Given the description of an element on the screen output the (x, y) to click on. 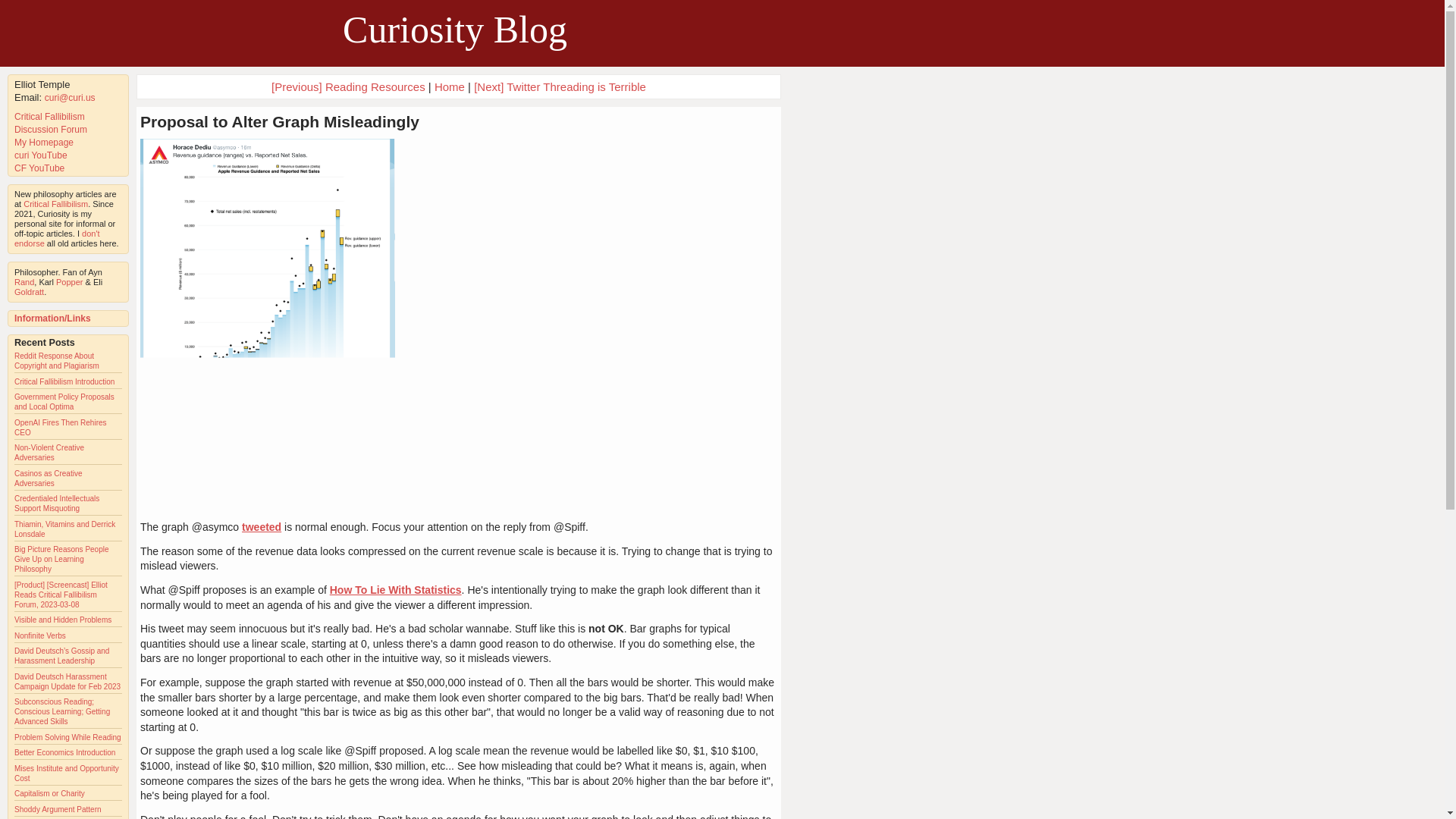
Reddit Response About Copyright and Plagiarism (56, 361)
Thiamin, Vitamins and Derrick Lonsdale (64, 529)
Government Policy Proposals and Local Optima (64, 402)
Non-Violent Creative Adversaries (49, 452)
CF YouTube (39, 167)
OpenAI Fires Then Rehires CEO (60, 427)
Critical Fallibilism (49, 116)
Big Picture Reasons People Give Up on Learning Philosophy (61, 559)
Rand (23, 281)
Casinos as Creative Adversaries (47, 478)
